Given the description of an element on the screen output the (x, y) to click on. 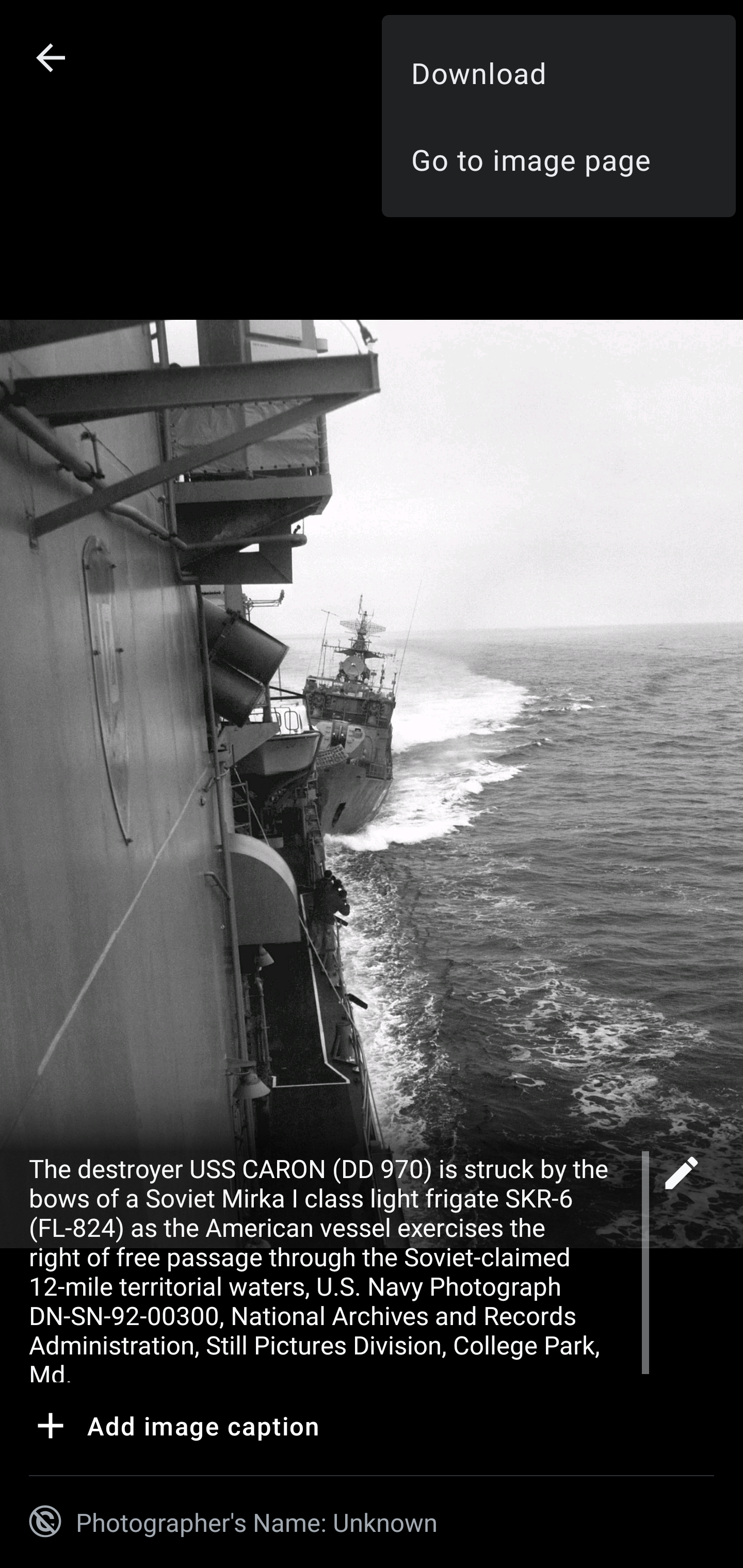
Download (558, 72)
Go to image page (558, 159)
